Given the description of an element on the screen output the (x, y) to click on. 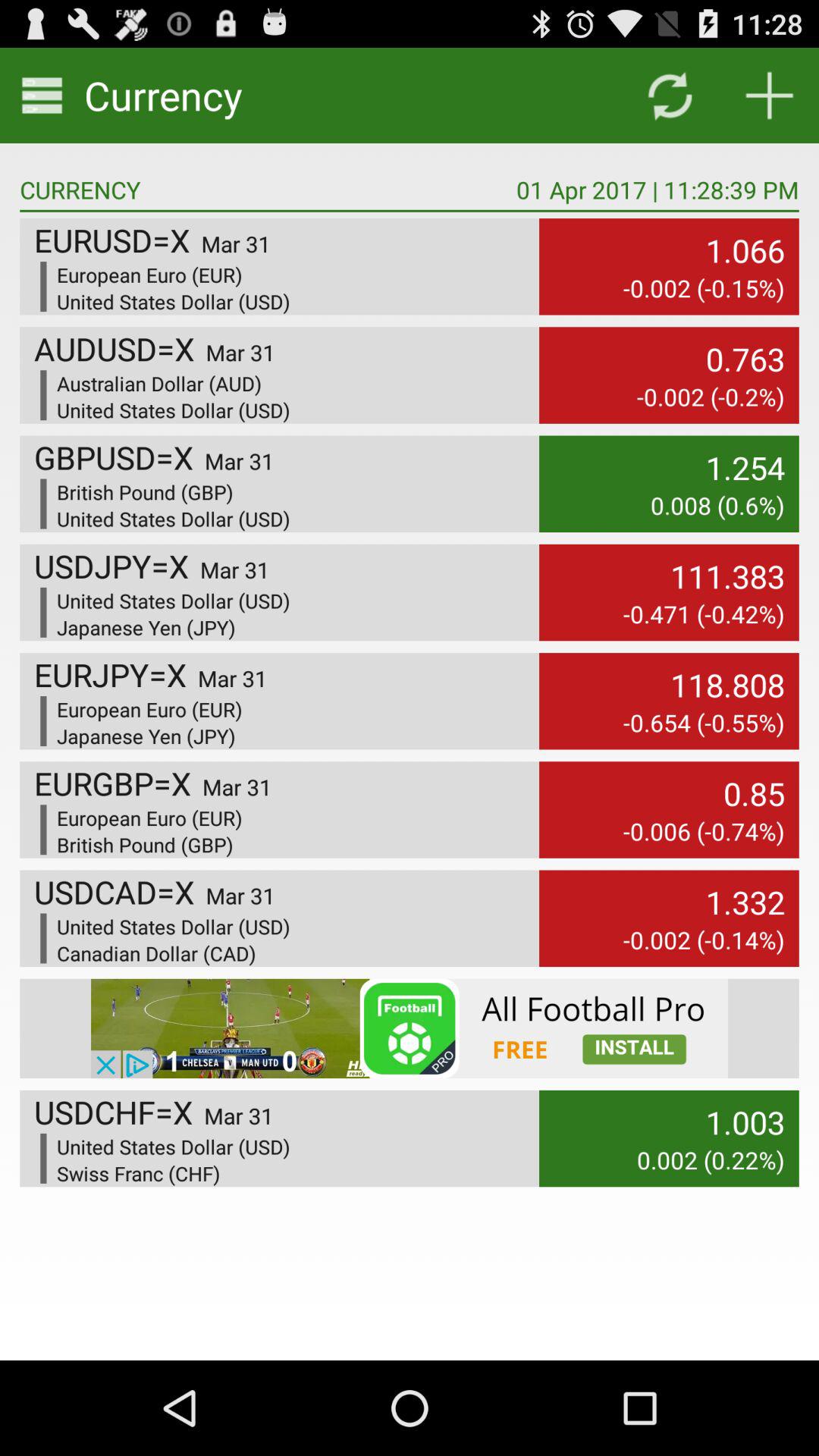
reload the page (669, 95)
